Given the description of an element on the screen output the (x, y) to click on. 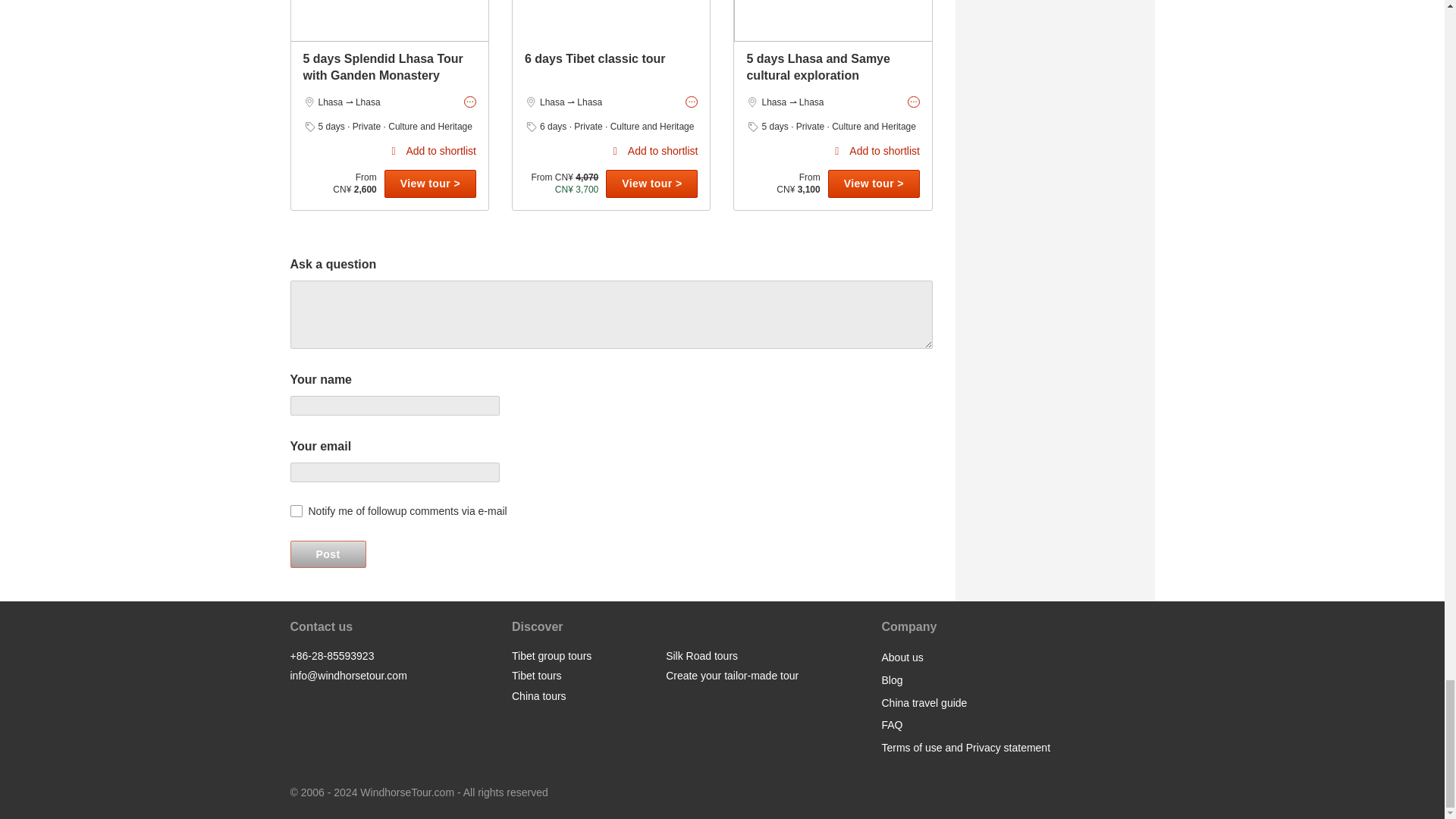
Post (327, 554)
Tashilunpo monastery exterior Tibet (611, 20)
